Given the description of an element on the screen output the (x, y) to click on. 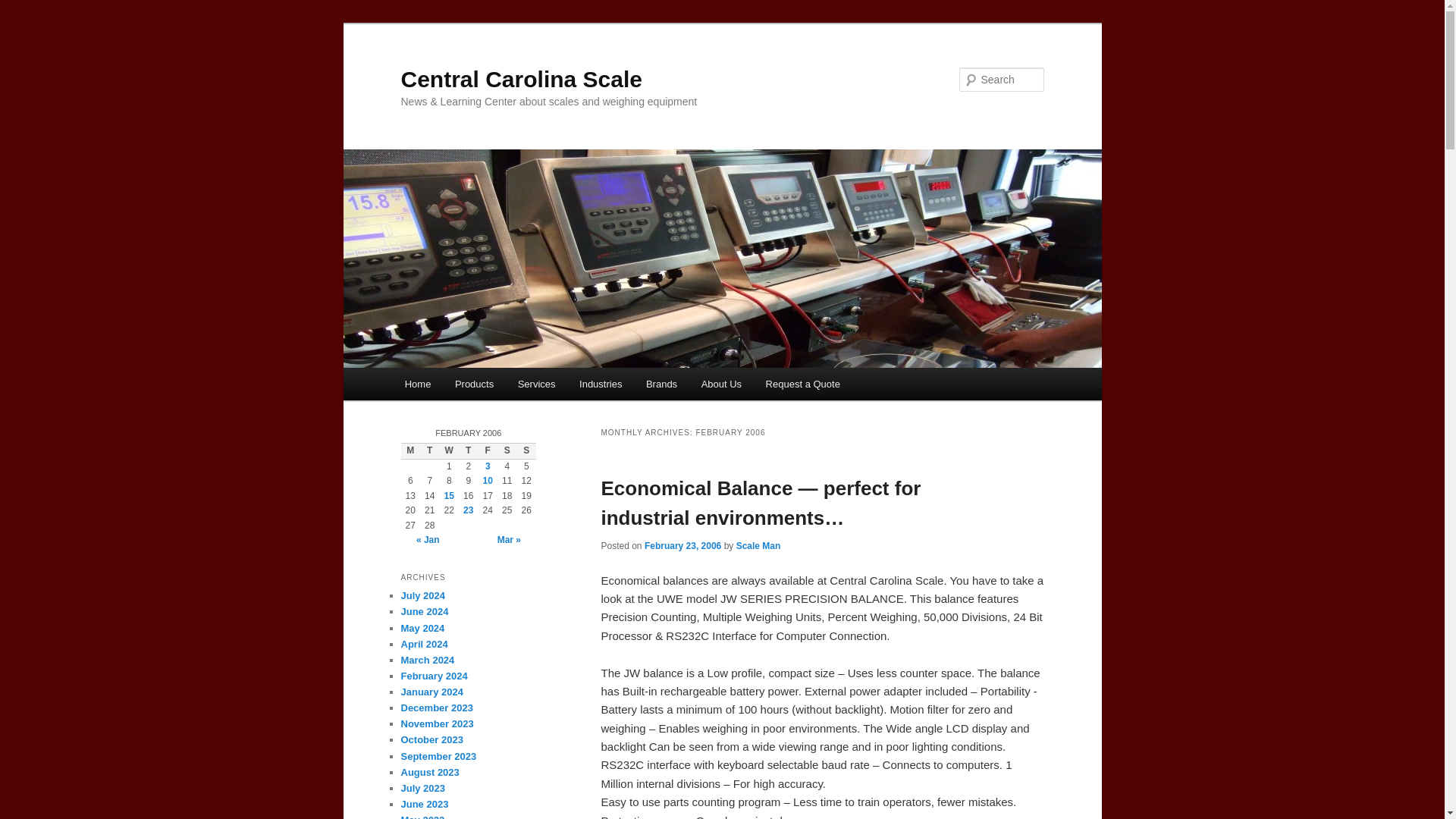
View all posts by Scale Man (758, 545)
February 23, 2006 (682, 545)
Saturday (506, 451)
July 2024 (422, 595)
Tuesday (429, 451)
April 2024 (423, 644)
Products (473, 383)
15 (449, 495)
Industries (600, 383)
Sunday (526, 451)
23 (468, 510)
Friday (487, 451)
Home (417, 383)
Scale Man (758, 545)
Central Carolina Scale (521, 78)
